Given the description of an element on the screen output the (x, y) to click on. 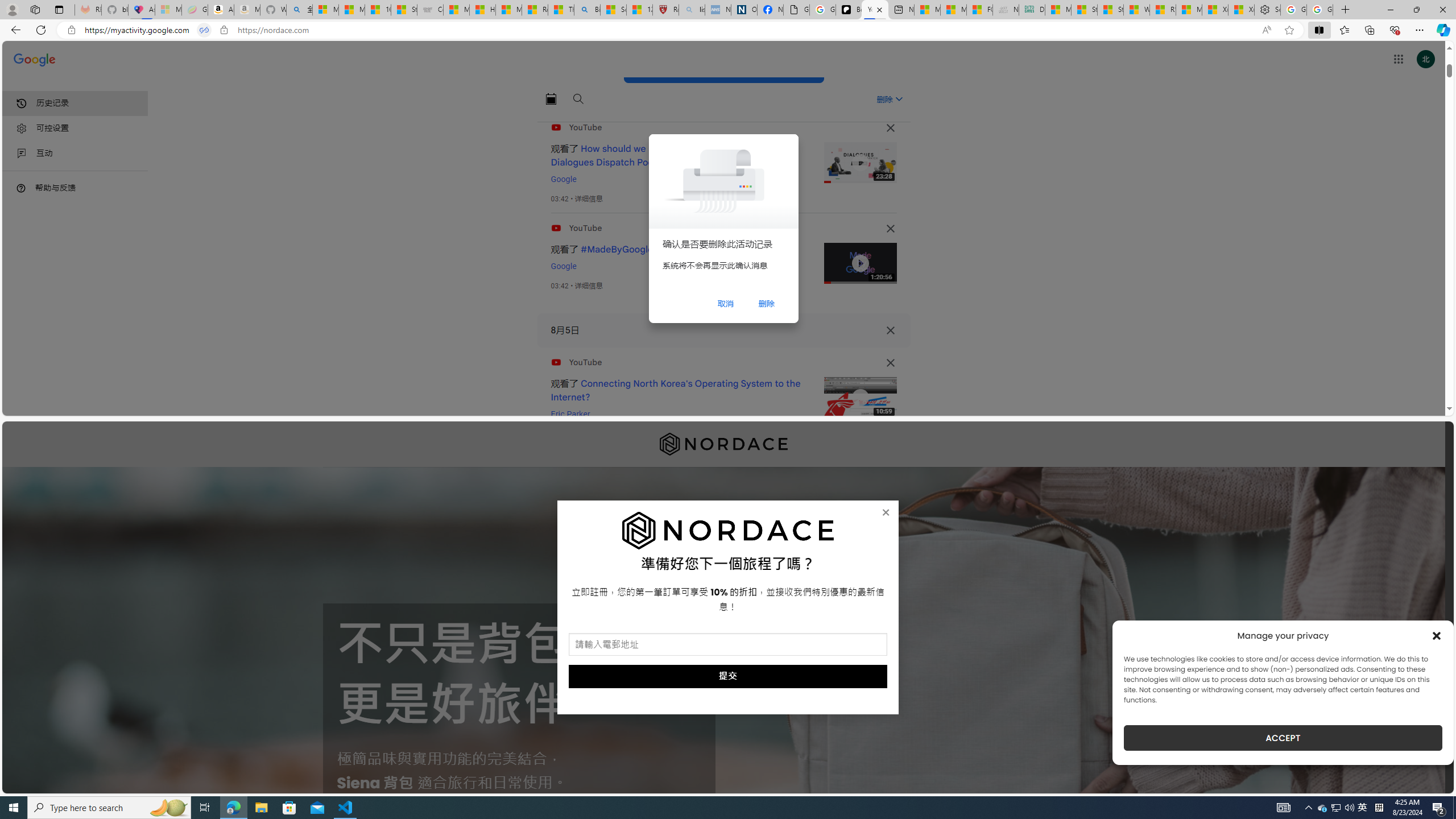
Recipes - MSN (534, 9)
12 Popular Science Lies that Must be Corrected (639, 9)
Class: cmplz-close (1436, 635)
